Given the description of an element on the screen output the (x, y) to click on. 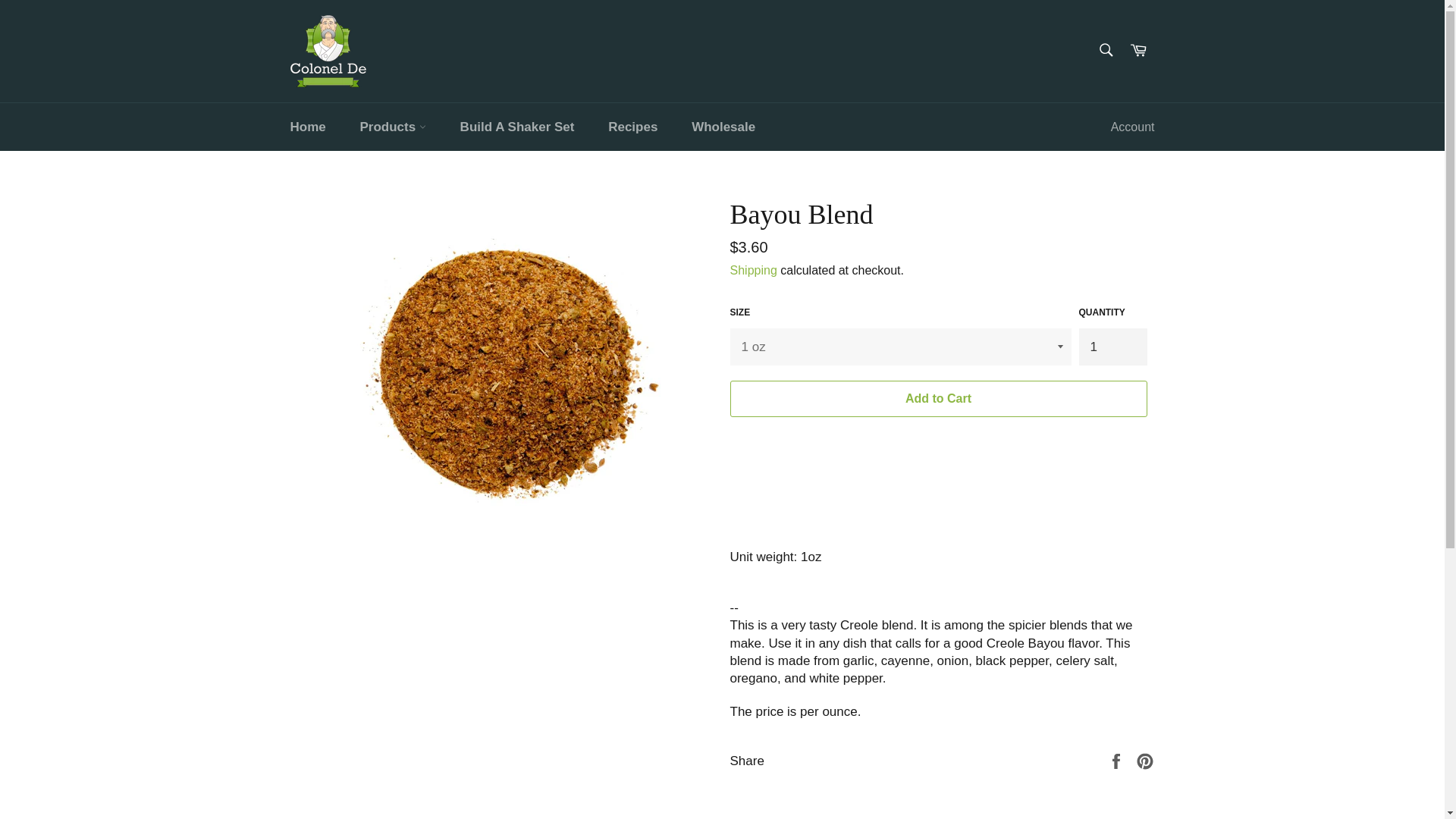
Share on Facebook (1117, 759)
1 (1112, 346)
Pin on Pinterest (1144, 759)
